Given the description of an element on the screen output the (x, y) to click on. 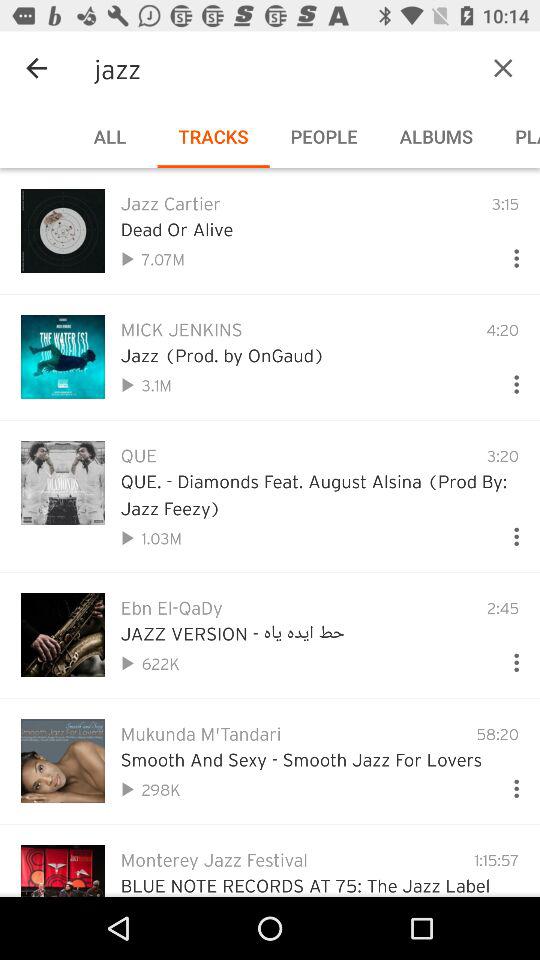
drop down menu (508, 784)
